Given the description of an element on the screen output the (x, y) to click on. 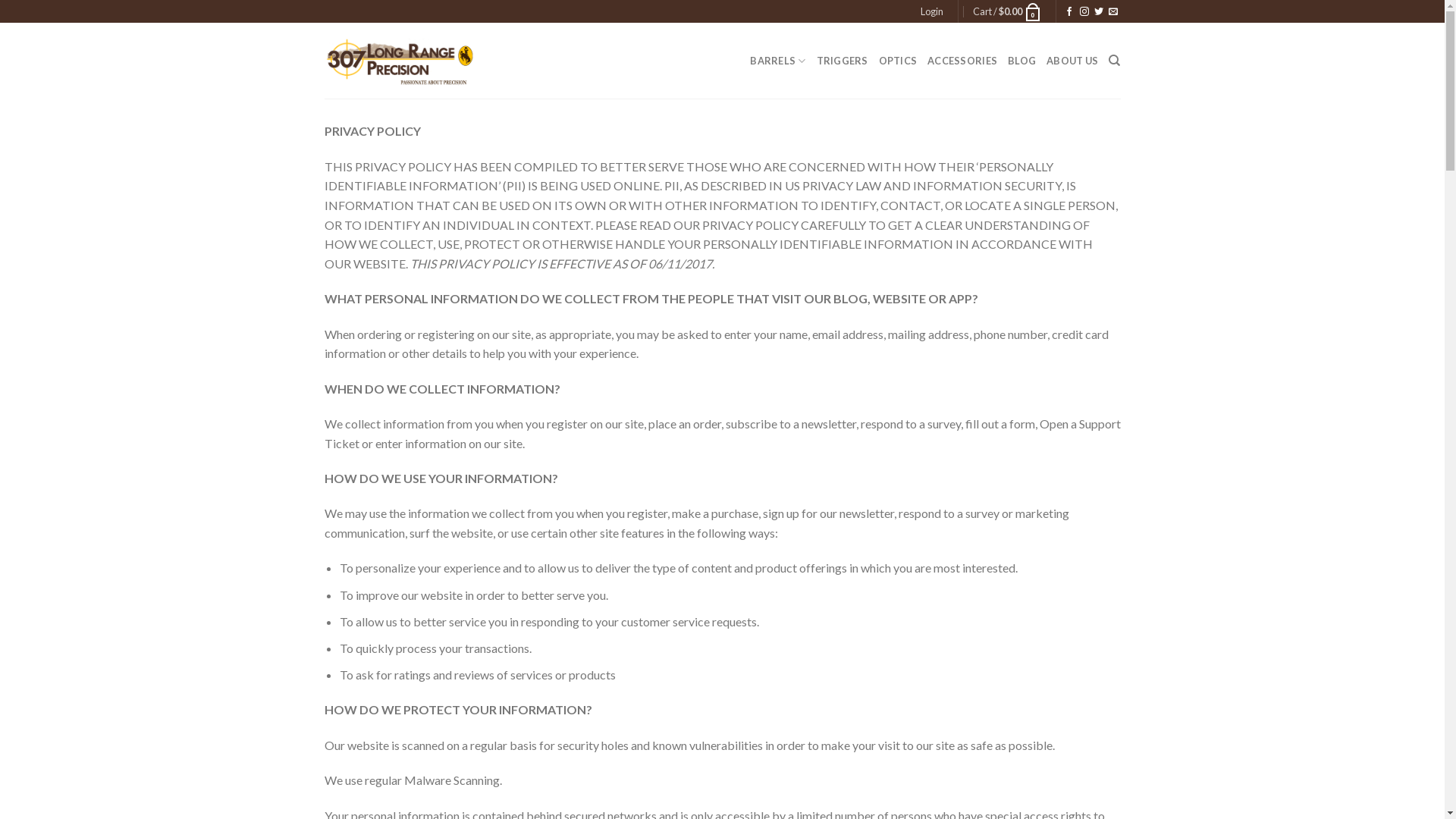
307 Long Range Precision - 307 Long Range Precision Element type: hover (400, 60)
Cart / $0.00
0 Element type: text (1006, 11)
TRIGGERS Element type: text (842, 60)
Follow on Instagram Element type: hover (1083, 11)
Login Element type: text (931, 11)
BARRELS Element type: text (777, 60)
ABOUT US Element type: text (1072, 60)
Send us an email Element type: hover (1112, 11)
BLOG Element type: text (1021, 60)
Follow on Facebook Element type: hover (1068, 11)
OPTICS Element type: text (897, 60)
Follow on Twitter Element type: hover (1098, 11)
ACCESSORIES Element type: text (962, 60)
